Given the description of an element on the screen output the (x, y) to click on. 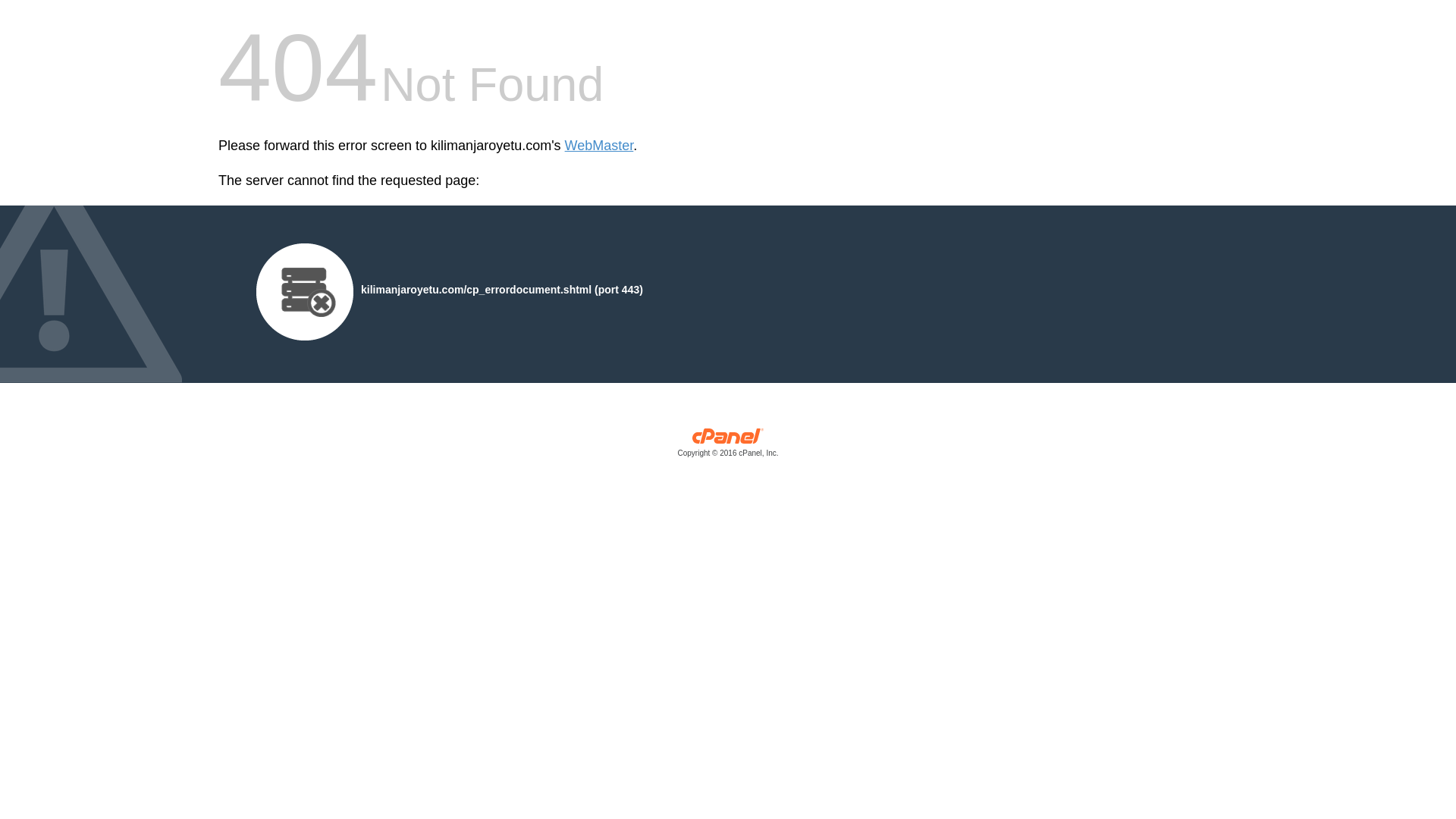
cPanel, Inc. (727, 446)
WebMaster (598, 145)
